Given the description of an element on the screen output the (x, y) to click on. 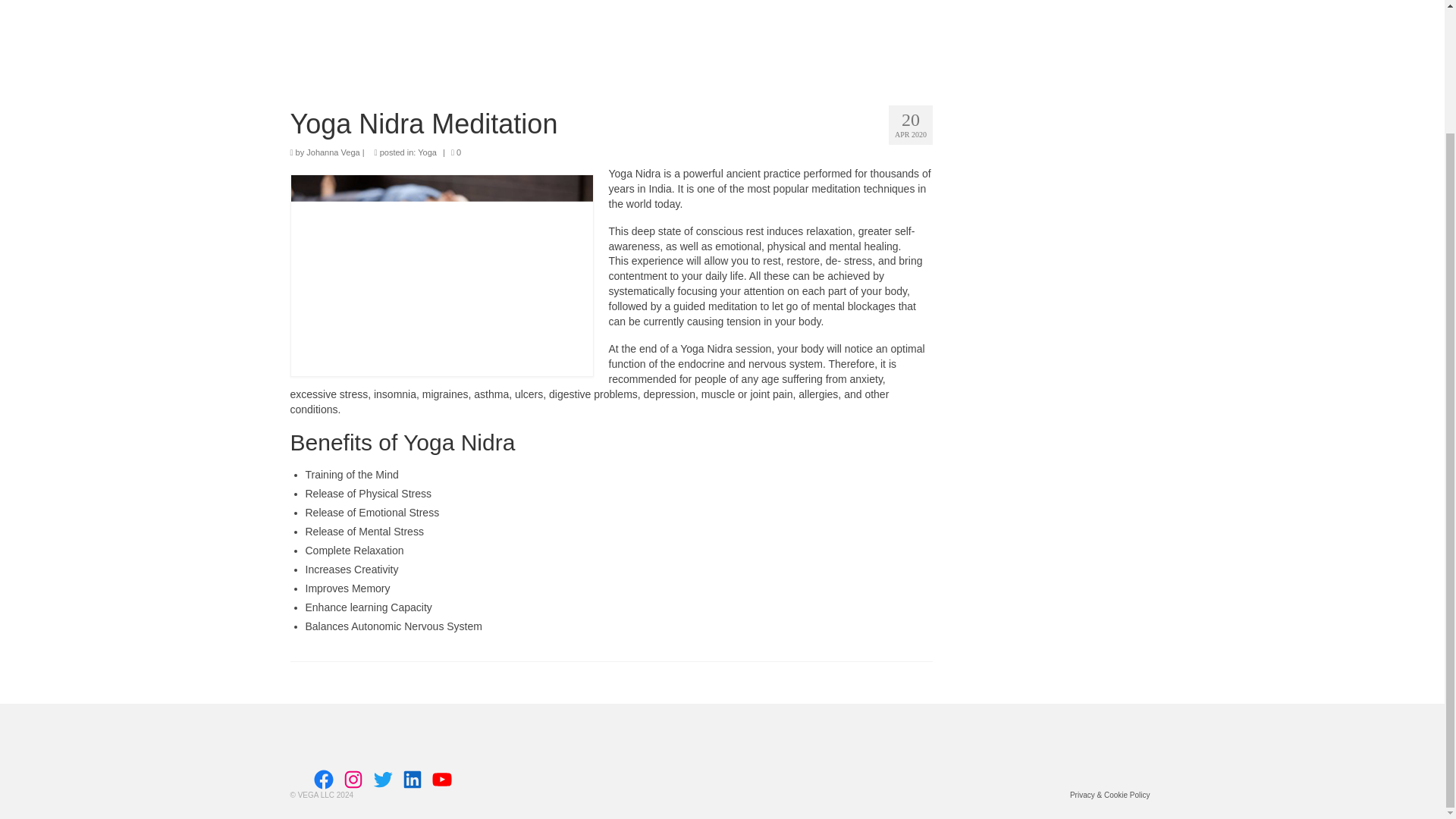
Twitter (382, 779)
YouTube (441, 779)
Johanna Vega (332, 152)
Yoga (426, 152)
LinkedIn (412, 779)
Instagram (353, 779)
Facebook (323, 779)
Yoga Nidra Meditation (611, 123)
